Given the description of an element on the screen output the (x, y) to click on. 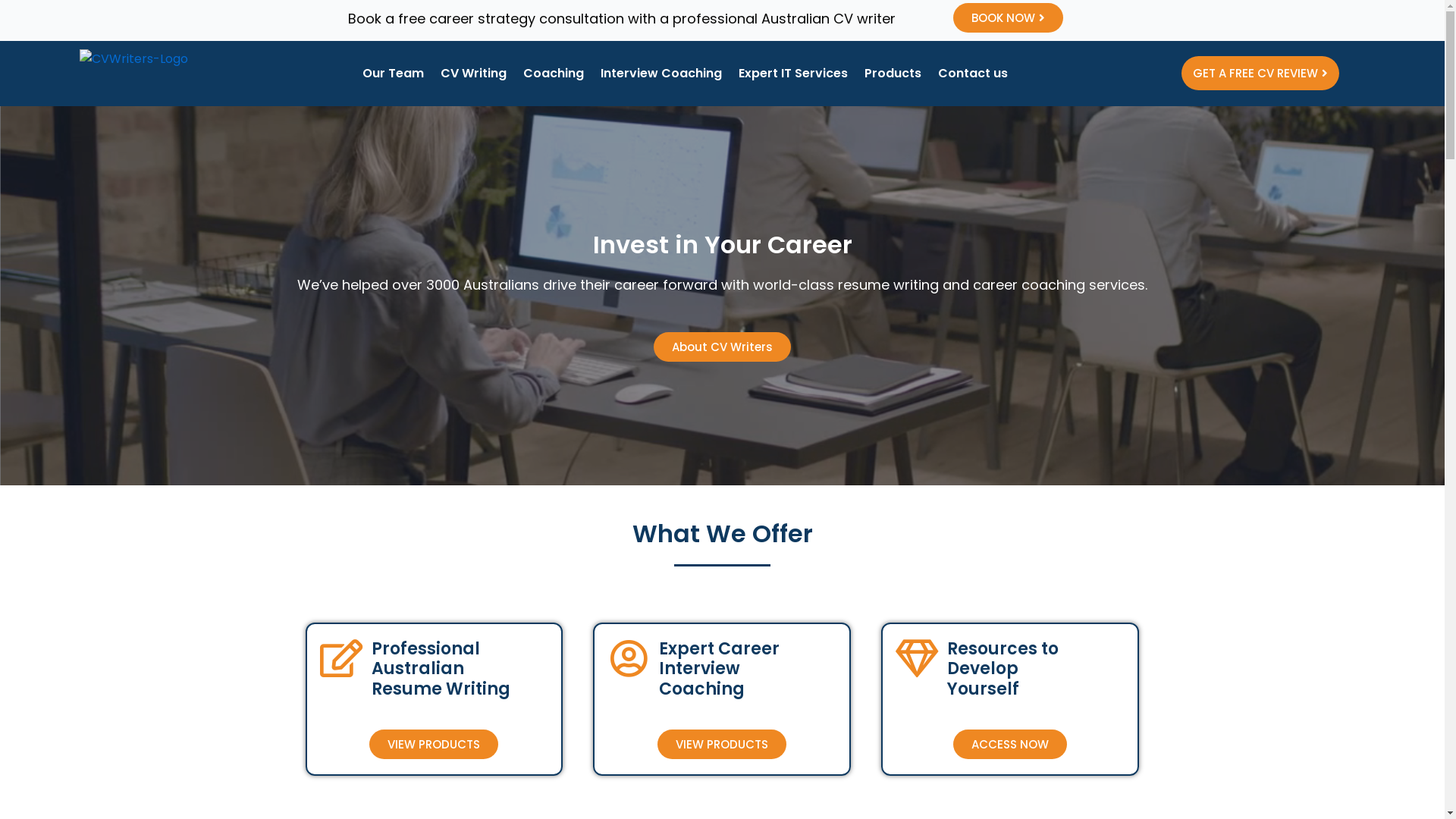
Expert IT Services Element type: text (793, 73)
Interview Coaching Element type: text (661, 73)
BOOK NOW Element type: text (1008, 17)
About CV Writers Element type: text (721, 346)
Our Team Element type: text (393, 73)
Coaching Element type: text (553, 73)
Contact us Element type: text (972, 73)
Products Element type: text (892, 73)
GET A FREE CV REVIEW Element type: text (1260, 73)
ACCESS NOW Element type: text (1009, 744)
VIEW PRODUCTS Element type: text (433, 744)
VIEW PRODUCTS Element type: text (721, 744)
CV Writing Element type: text (473, 73)
